Given the description of an element on the screen output the (x, y) to click on. 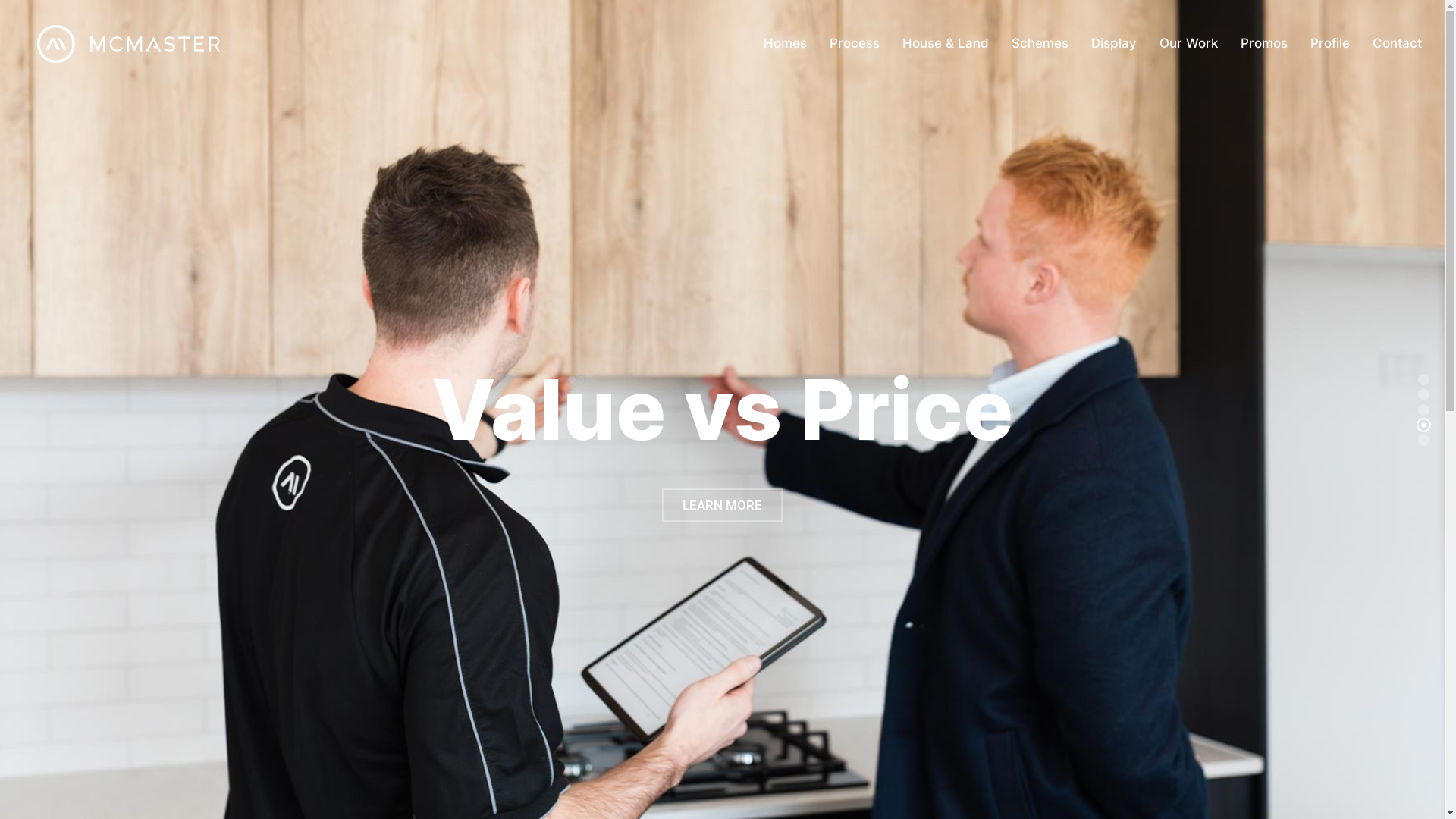
Process Element type: text (854, 43)
House & Land Element type: text (945, 43)
LEARN MORE Element type: text (721, 504)
Profile Element type: text (1330, 43)
Contact Element type: text (1397, 43)
Homes Element type: text (785, 43)
Our Work Element type: text (1188, 43)
Schemes Element type: text (1039, 43)
Display Element type: text (1113, 43)
Promos Element type: text (1264, 43)
